Given the description of an element on the screen output the (x, y) to click on. 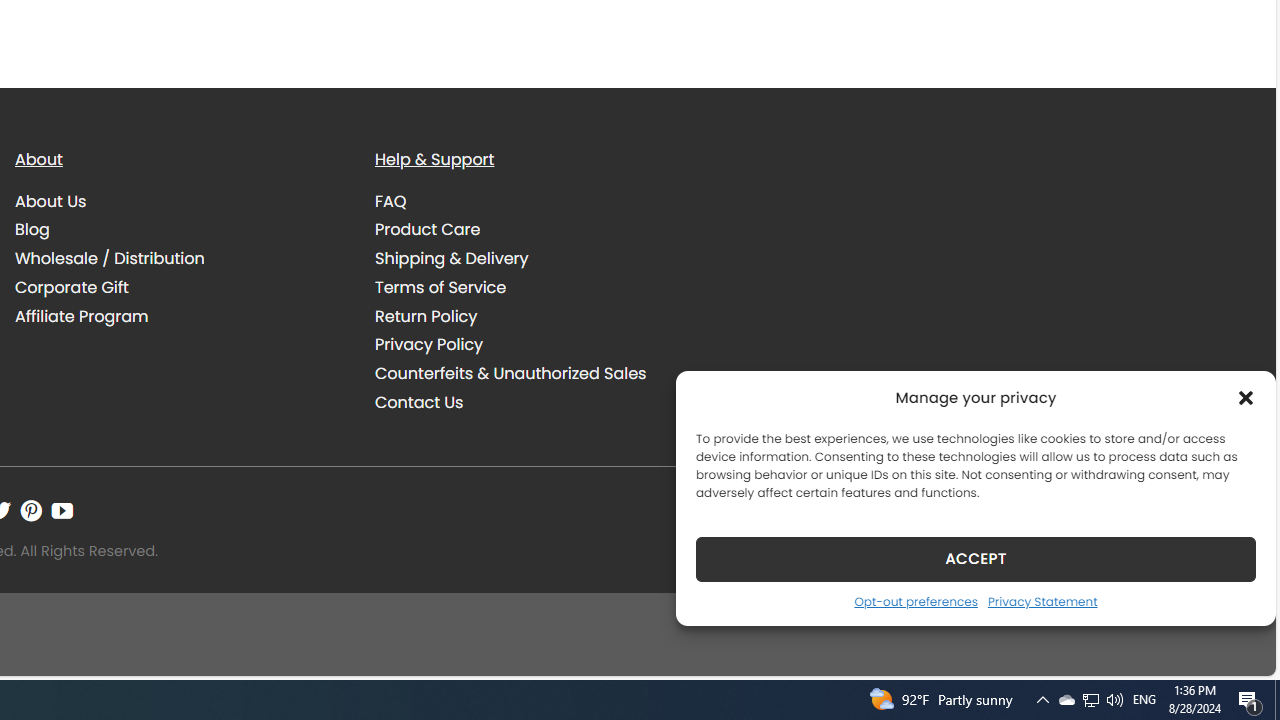
Wholesale / Distribution (109, 258)
Terms of Service (440, 286)
Opt-out preferences (915, 601)
